Given the description of an element on the screen output the (x, y) to click on. 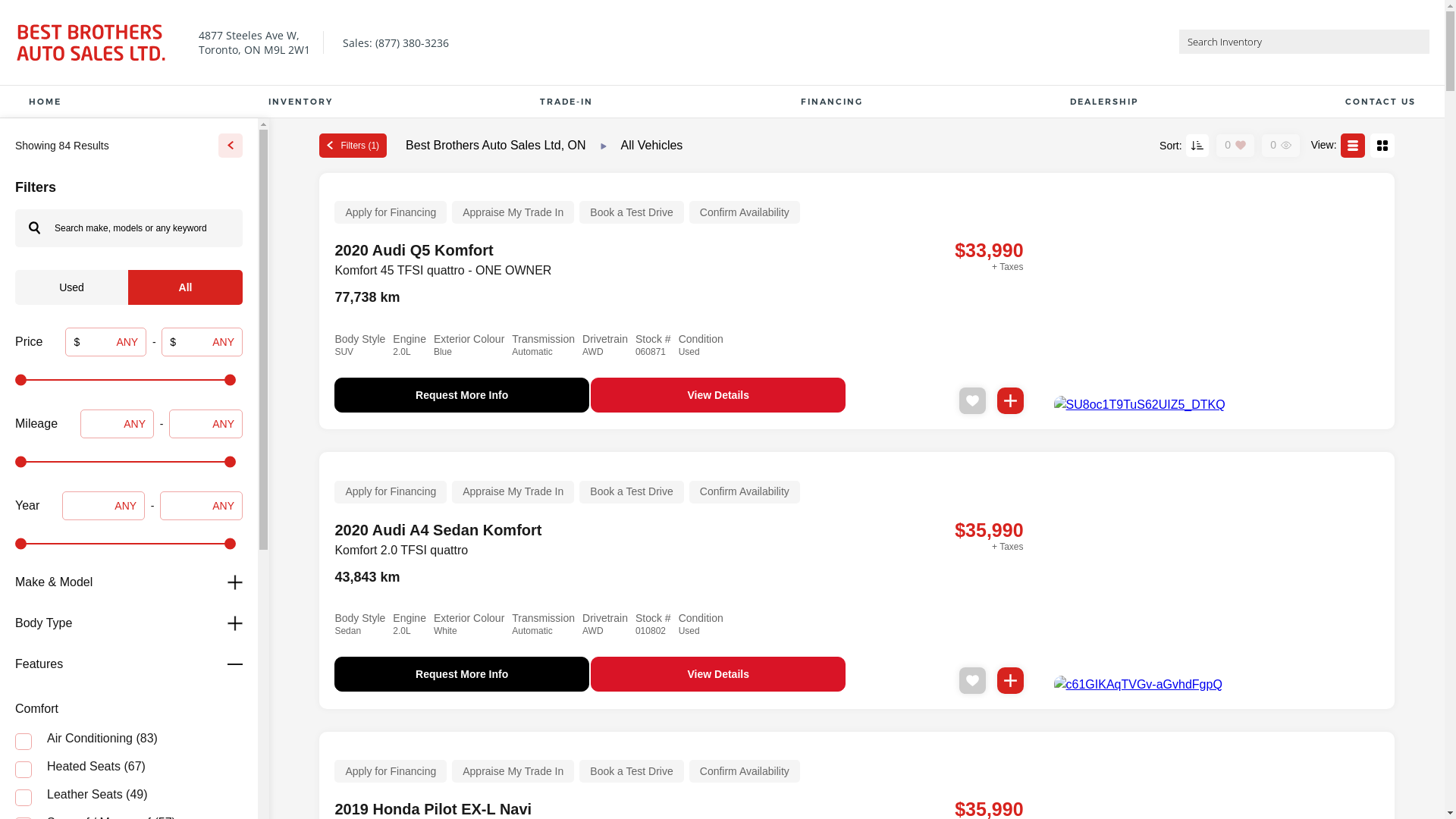
2020 Audi A4 Sedan Komfort Element type: text (437, 529)
Appraise My Trade In Element type: text (512, 211)
View Details Element type: text (717, 673)
Appraise My Trade In Element type: text (512, 491)
FINANCING Element type: text (831, 101)
Confirm Availability Element type: text (744, 770)
All Element type: text (185, 286)
Confirm Availability Element type: text (744, 211)
CONTACT US Element type: text (1380, 101)
Appraise My Trade In Element type: text (512, 770)
Used Element type: text (71, 286)
Leather Seats (49) Element type: text (128, 795)
Confirm Availability Element type: text (744, 491)
2020 Audi Q5 Komfort Element type: text (413, 249)
Add to Compare Element type: hover (1010, 400)
HOME Element type: text (45, 101)
TRADE-IN Element type: text (566, 101)
Apply for Financing Element type: text (390, 211)
Apply for Financing Element type: text (390, 491)
Body Type Element type: text (128, 623)
Best Brothers Auto Sales Ltd, ON Element type: text (497, 144)
 Best Brothers Auto Sales Element type: hover (90, 42)
4877 Steeles Ave W,
Toronto, ON M9L 2W1 Element type: text (251, 42)
Heated Seats (67) Element type: text (128, 766)
All Vehicles Element type: text (652, 144)
Request More Info Element type: text (461, 394)
0 Element type: text (1273, 144)
Submit Element type: text (1415, 42)
Request More Info Element type: text (461, 673)
Air Conditioning (83) Element type: text (128, 739)
Book a Test Drive Element type: text (631, 491)
2019 Honda Pilot EX-L Navi Element type: text (432, 808)
0 Element type: text (1227, 144)
Apply for Financing Element type: text (390, 770)
Make & Model Element type: text (128, 582)
Sales: (877) 380-3236 Element type: text (392, 41)
Search Element type: text (34, 228)
Book a Test Drive Element type: text (631, 770)
Features Element type: text (128, 664)
Add to Compare Element type: hover (1010, 680)
Book a Test Drive Element type: text (631, 211)
INVENTORY Element type: text (300, 101)
View Details Element type: text (717, 394)
DEALERSHIP Element type: text (1103, 101)
